Given the description of an element on the screen output the (x, y) to click on. 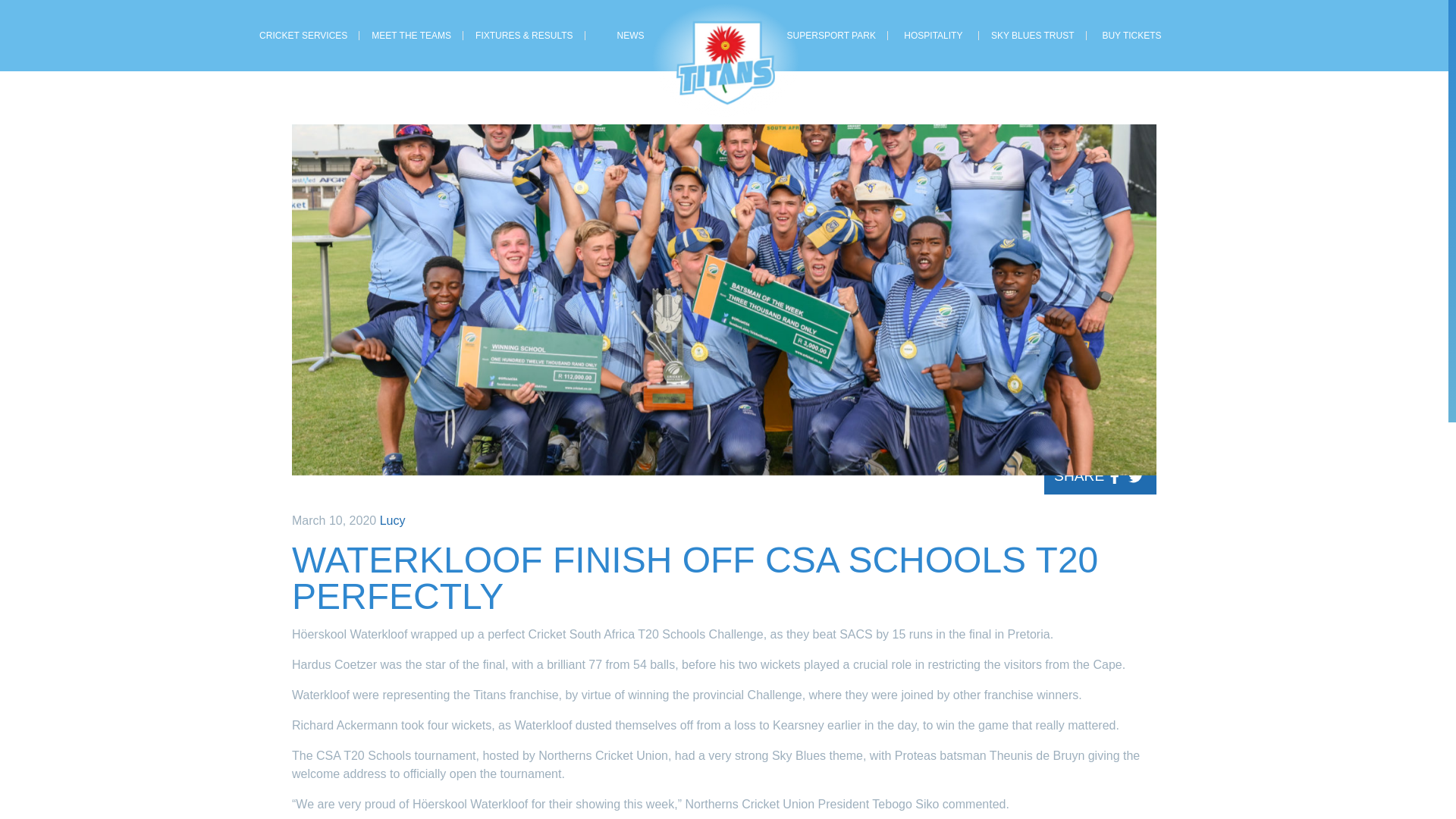
SKY BLUES TRUST (1032, 35)
NEWS (630, 35)
MEET THE TEAMS (411, 35)
BUY TICKETS (1131, 35)
HOSPITALITY (932, 35)
CRICKET SERVICES (303, 35)
Lucy (393, 520)
SUPERSPORT PARK (831, 35)
